Given the description of an element on the screen output the (x, y) to click on. 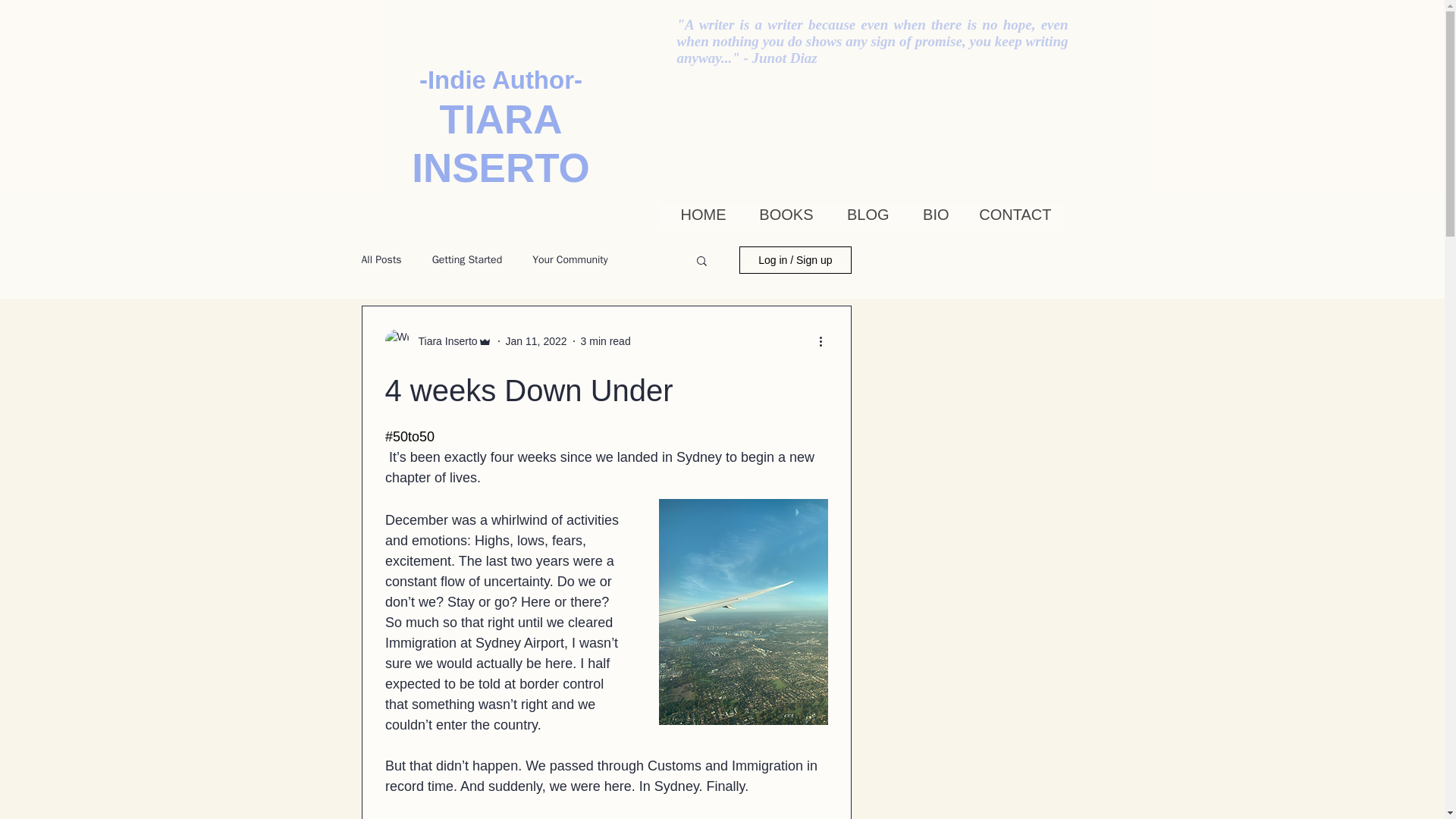
3 min read (605, 340)
HOME (698, 214)
Jan 11, 2022 (536, 340)
Tiara Inserto (443, 341)
All Posts (381, 259)
BOOKS (780, 214)
CONTACT (1010, 214)
BIO (930, 214)
Your Community (570, 259)
Getting Started (467, 259)
